Given the description of an element on the screen output the (x, y) to click on. 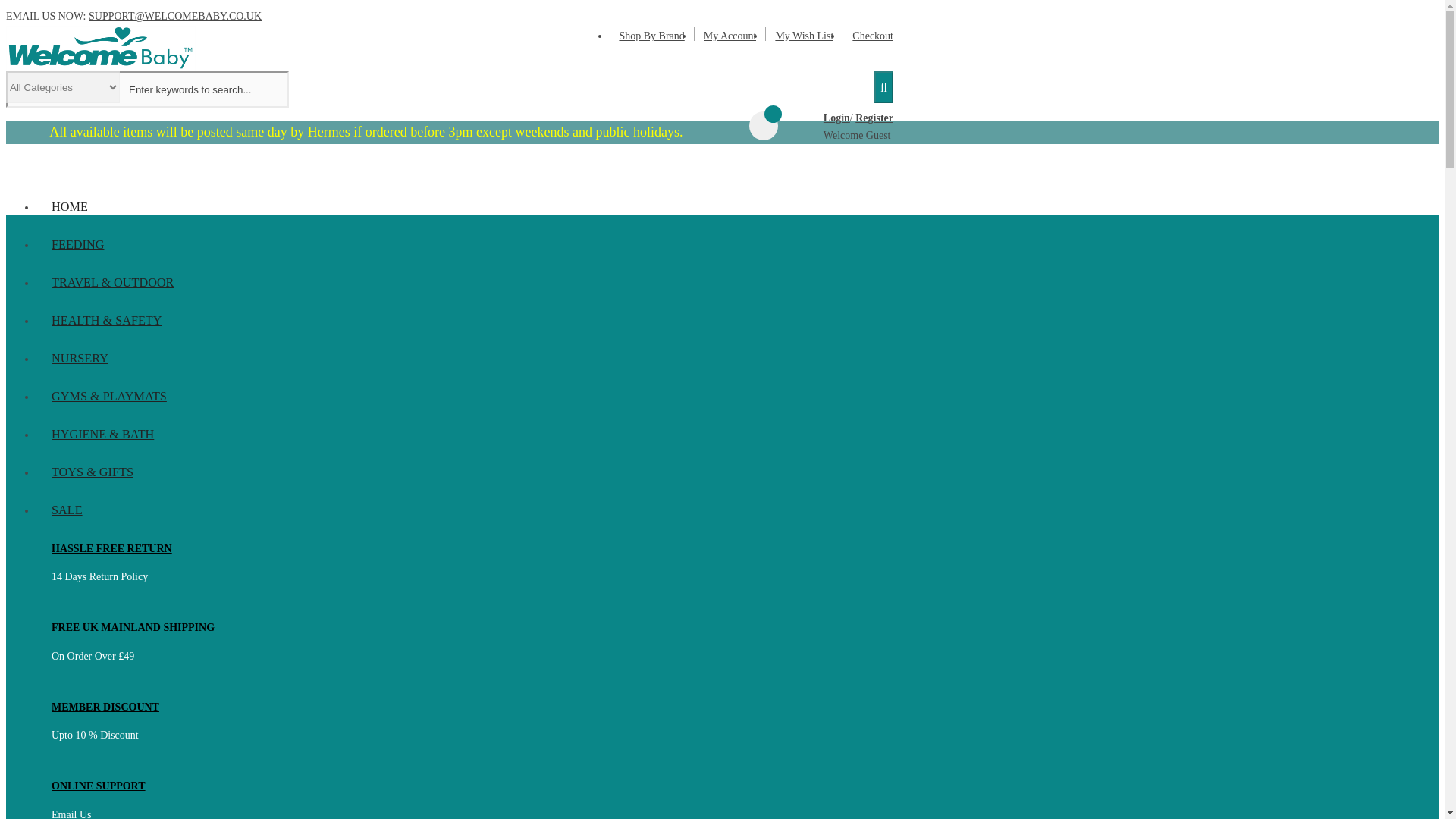
Shop By Brand (651, 35)
My Account (730, 35)
Enter keywords to search... (146, 89)
SALE (464, 510)
Login (837, 117)
HASSLE FREE RETURN (110, 548)
HOME (464, 207)
Checkout (872, 35)
Register (874, 117)
My Account (730, 35)
MEMBER DISCOUNT (104, 706)
FREE UK MAINLAND SHIPPING (132, 627)
Shop By Brand (651, 35)
Register (874, 117)
Checkout (872, 35)
